Given the description of an element on the screen output the (x, y) to click on. 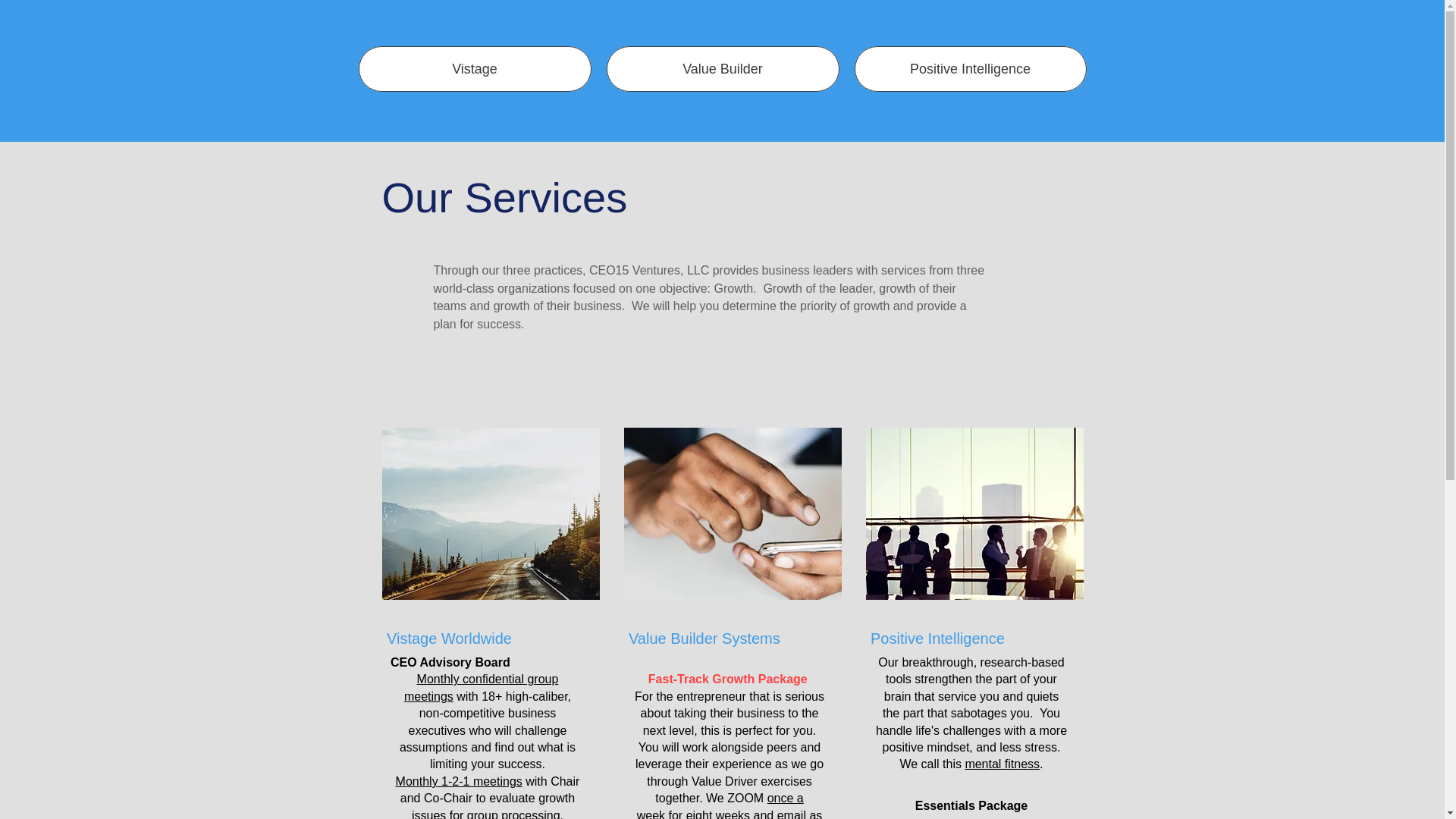
Vistage (474, 68)
Positive Intelligence (969, 68)
Value Builder (723, 68)
